Given the description of an element on the screen output the (x, y) to click on. 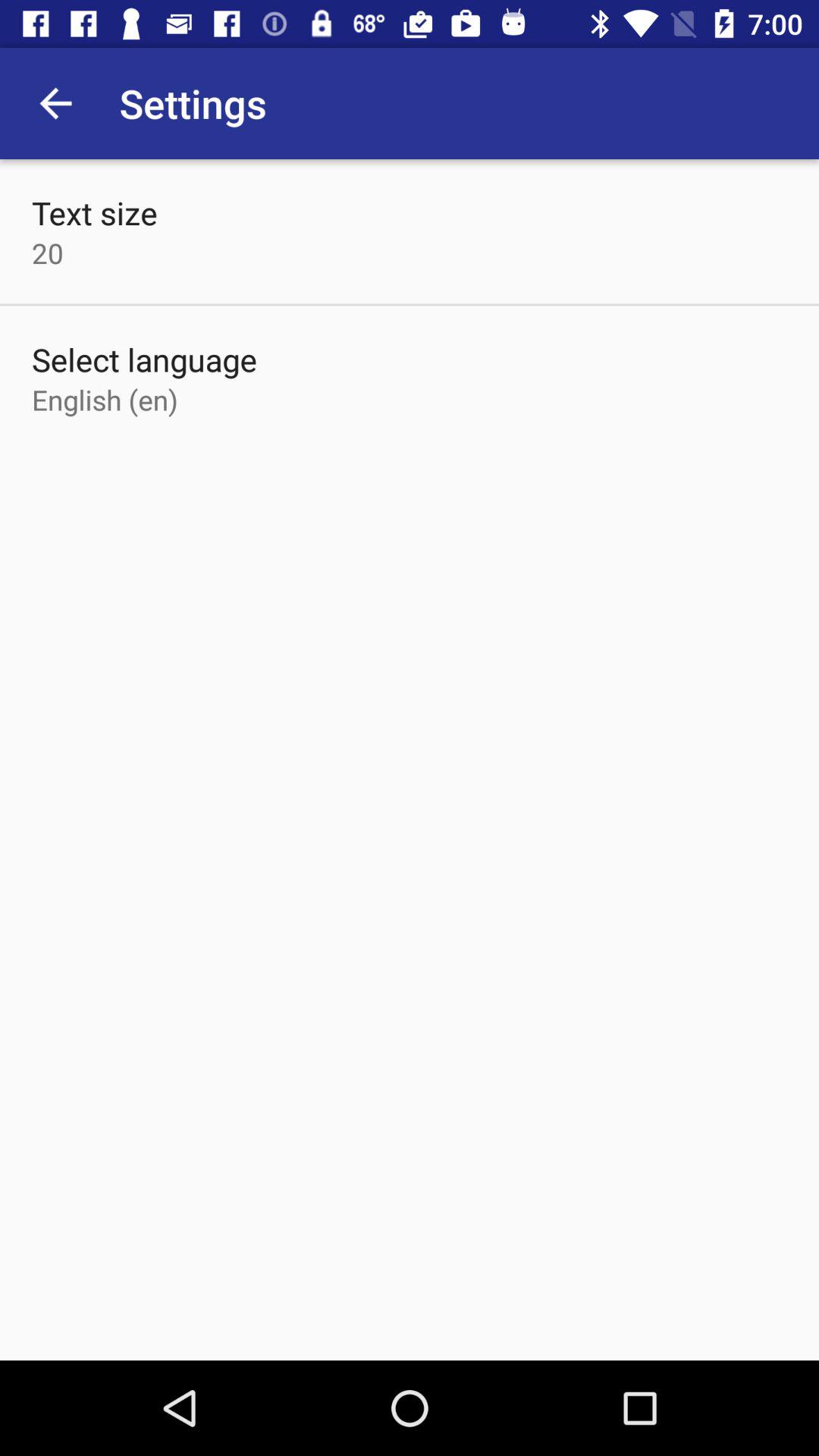
swipe to the 20 (47, 252)
